Given the description of an element on the screen output the (x, y) to click on. 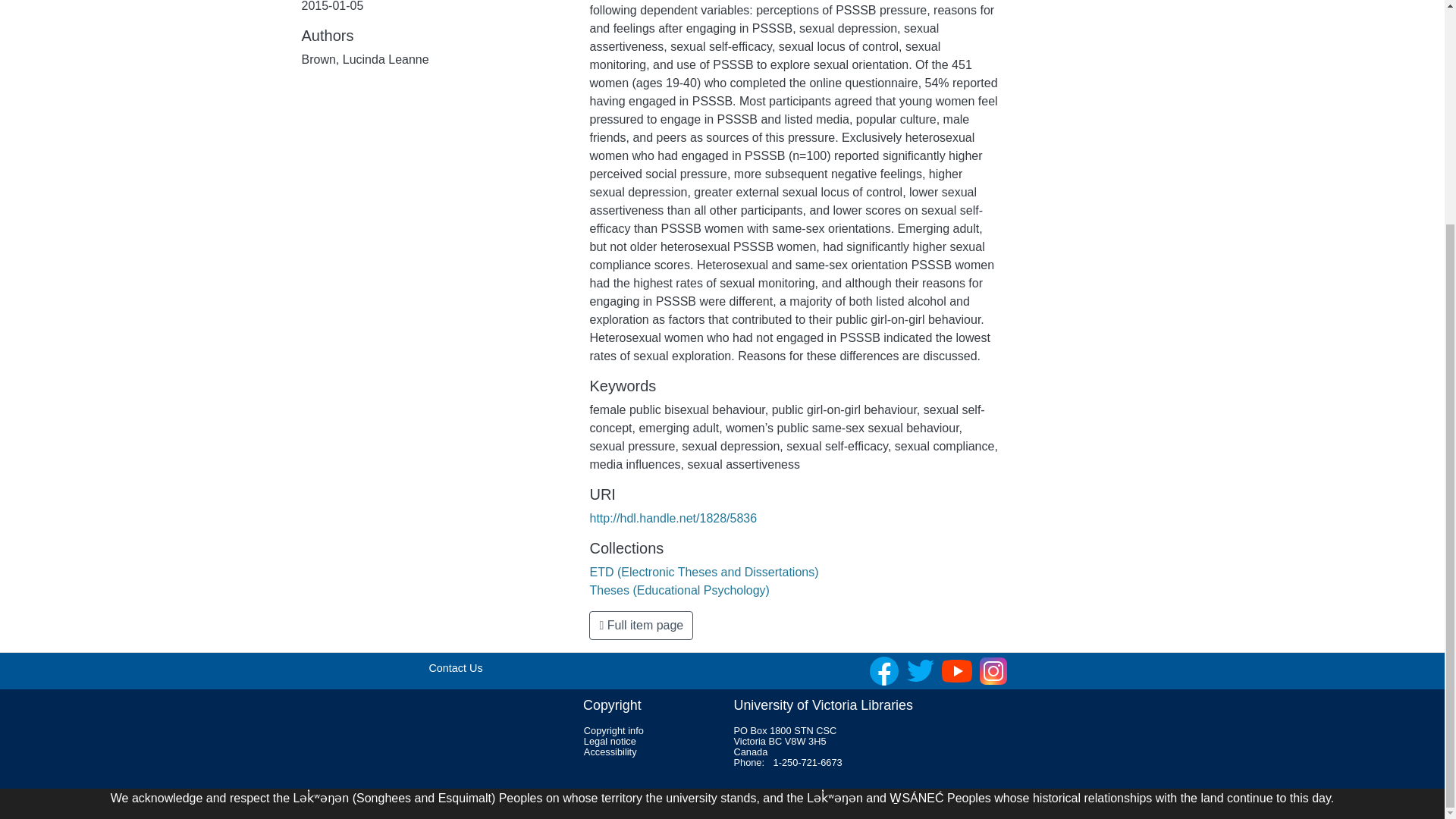
Contact Us (454, 667)
Full item page (641, 624)
